Given the description of an element on the screen output the (x, y) to click on. 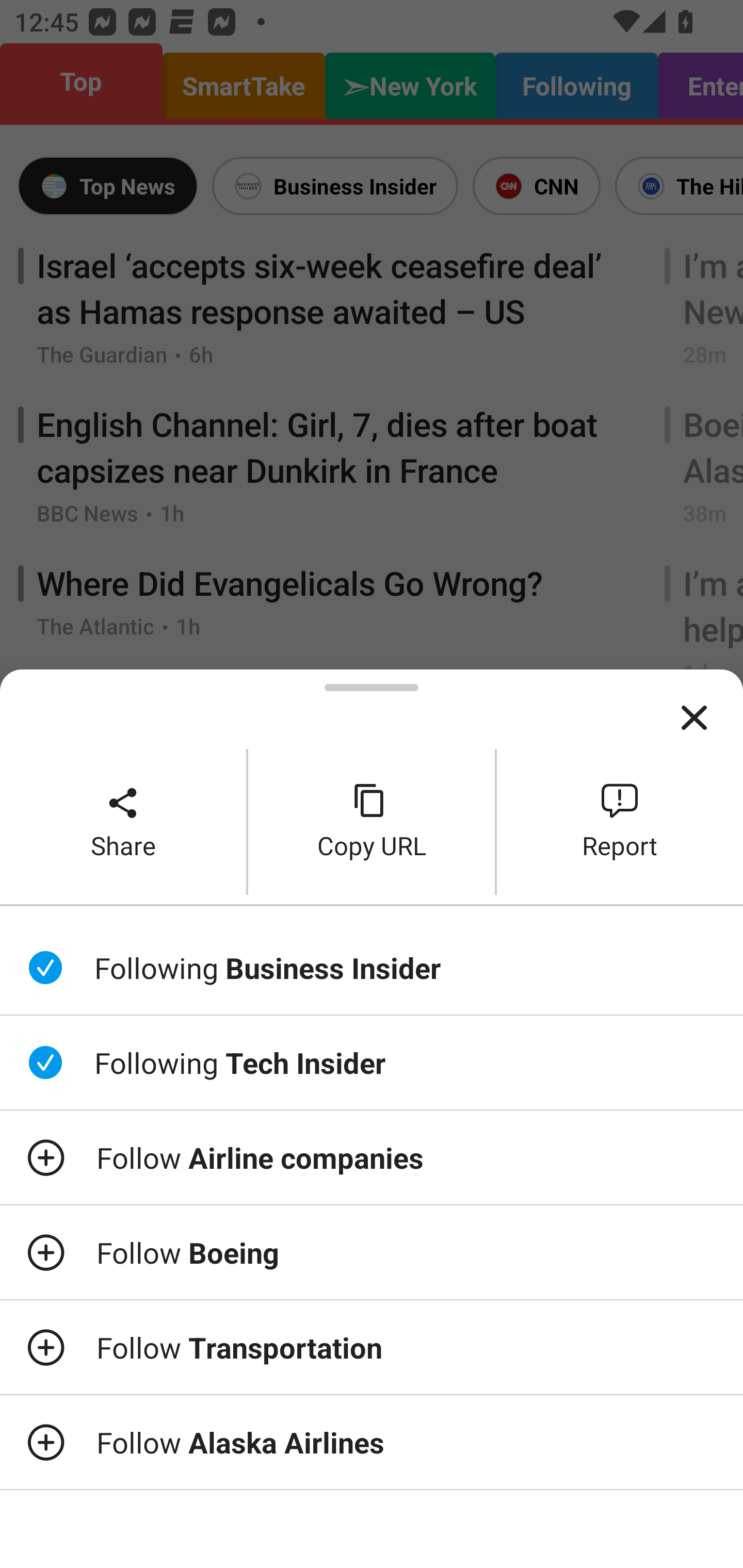
Close (694, 717)
Share (122, 822)
Copy URL (371, 822)
Report (620, 822)
Following Business Insider (371, 967)
Following Tech Insider (371, 1063)
Follow Airline companies (371, 1157)
Follow Boeing (371, 1252)
Follow Transportation (371, 1346)
Follow Alaska Airlines (371, 1442)
